Given the description of an element on the screen output the (x, y) to click on. 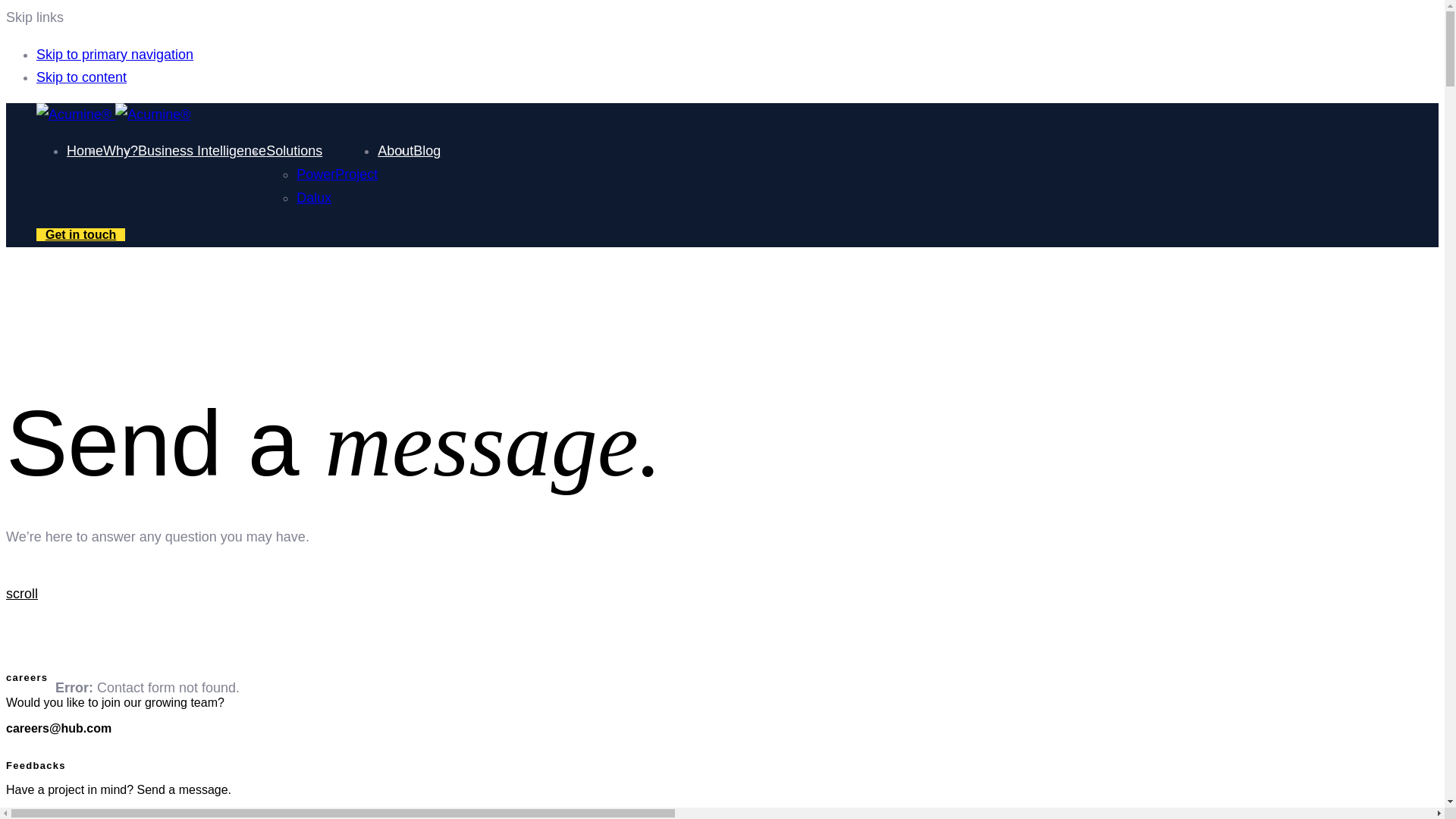
Contact (80, 234)
Skip to content (81, 77)
Home (84, 150)
Skip to primary navigation (114, 54)
PowerProject (337, 174)
Get in touch (80, 234)
Business Intelligence (202, 150)
About (395, 150)
Dalux (314, 197)
scroll (21, 593)
